Given the description of an element on the screen output the (x, y) to click on. 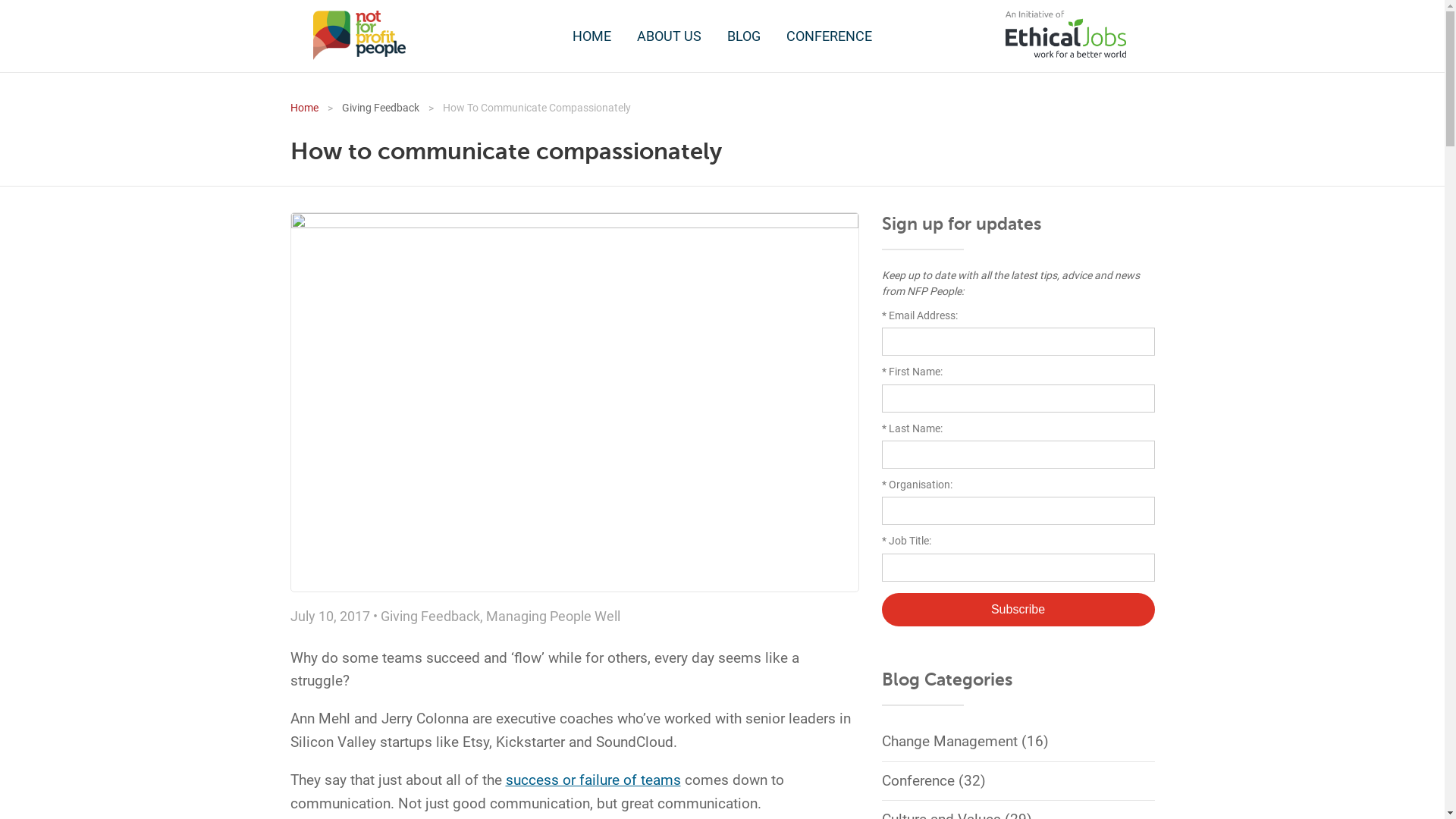
Change Management Element type: text (948, 740)
Subscribe Element type: text (1017, 609)
Home Element type: text (303, 107)
CONFERENCE Element type: text (829, 36)
ABOUT US Element type: text (668, 36)
success or failure of teams Element type: text (592, 779)
Giving Feedback Element type: text (368, 108)
Conference Element type: text (917, 780)
HOME Element type: text (591, 36)
Giving Feedback Element type: text (430, 616)
Managing People Well Element type: text (552, 616)
BLOG Element type: text (743, 36)
